Given the description of an element on the screen output the (x, y) to click on. 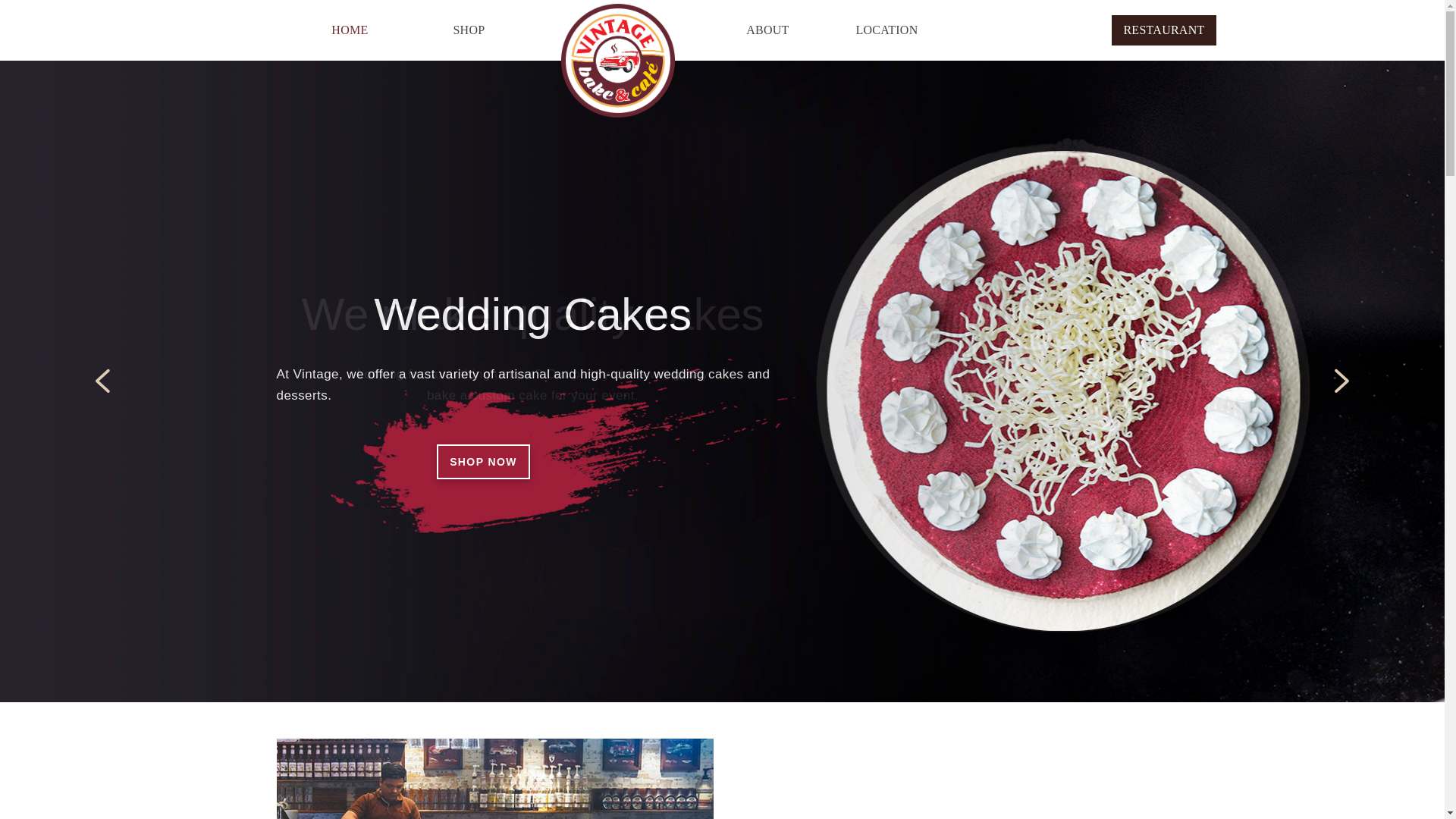
RESTAURANT Element type: text (1163, 29)
ABOUT Element type: text (767, 29)
LOCATION Element type: text (886, 29)
SHOP Element type: text (468, 29)
HOME Element type: text (349, 29)
SHOP NOW Element type: text (483, 461)
